Given the description of an element on the screen output the (x, y) to click on. 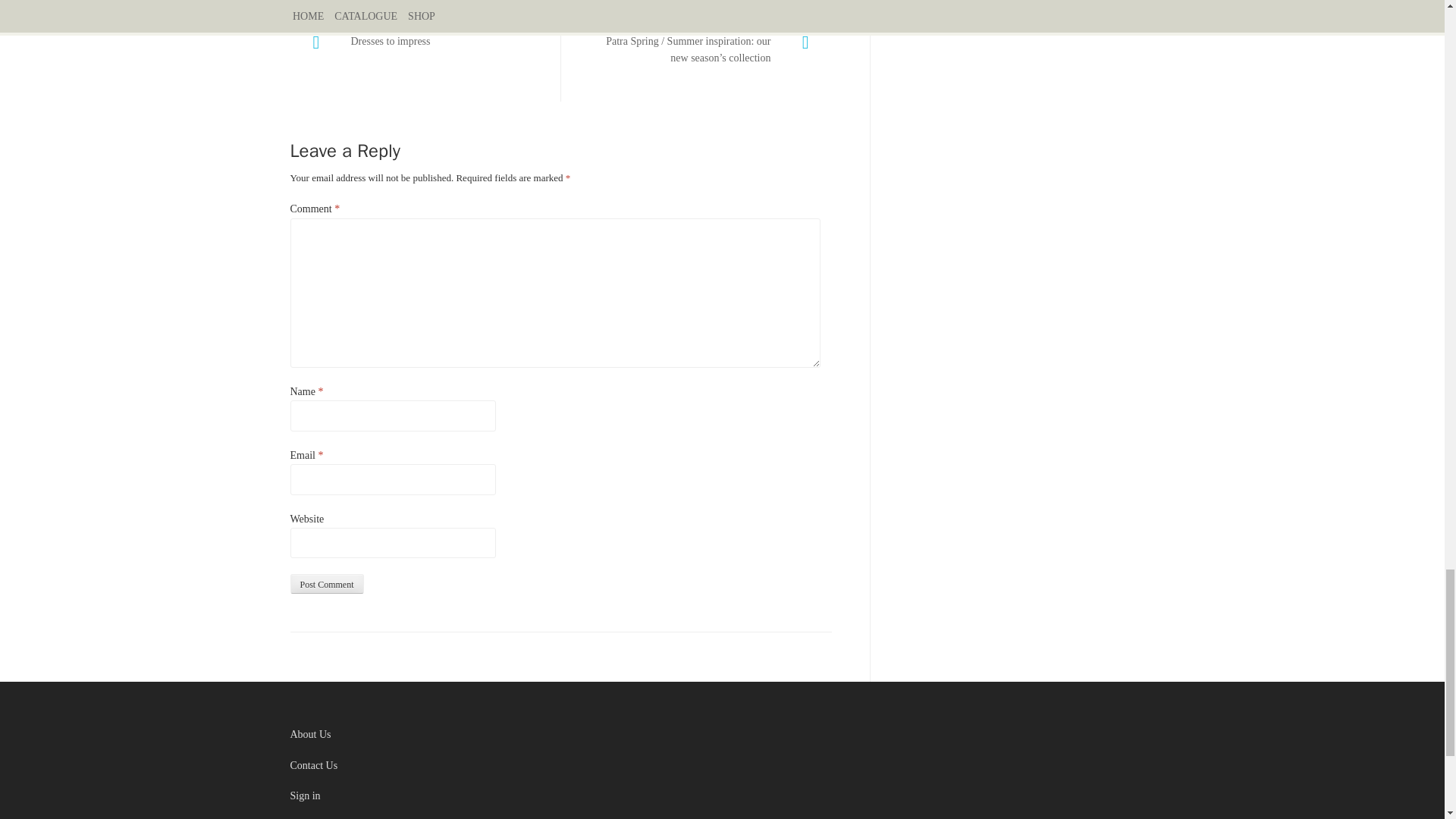
Post Comment (325, 583)
Post Comment (325, 583)
Dresses to impress (424, 59)
